Given the description of an element on the screen output the (x, y) to click on. 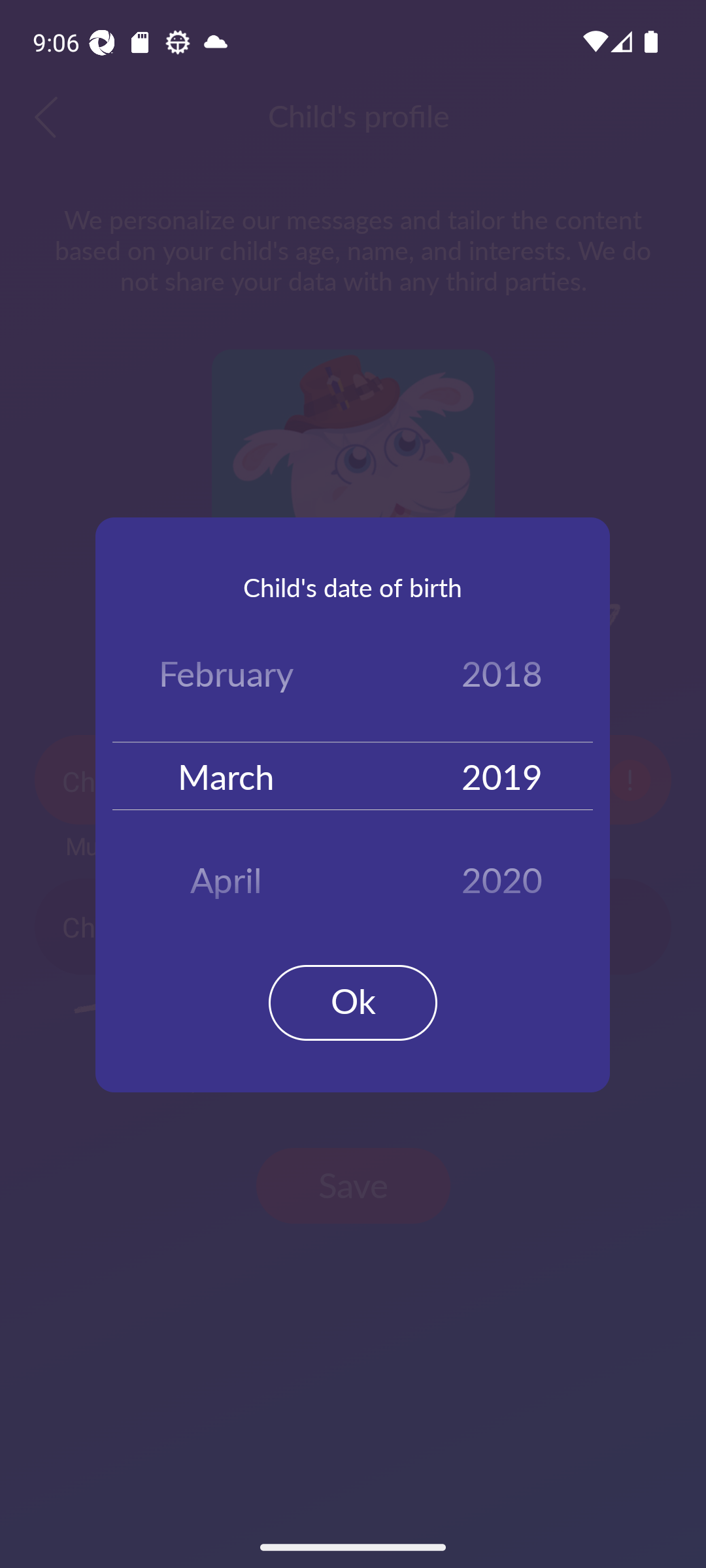
February (226, 676)
2018 (501, 676)
March (226, 774)
2019 (501, 774)
April (226, 872)
2020 (501, 872)
Ok (352, 1002)
